Given the description of an element on the screen output the (x, y) to click on. 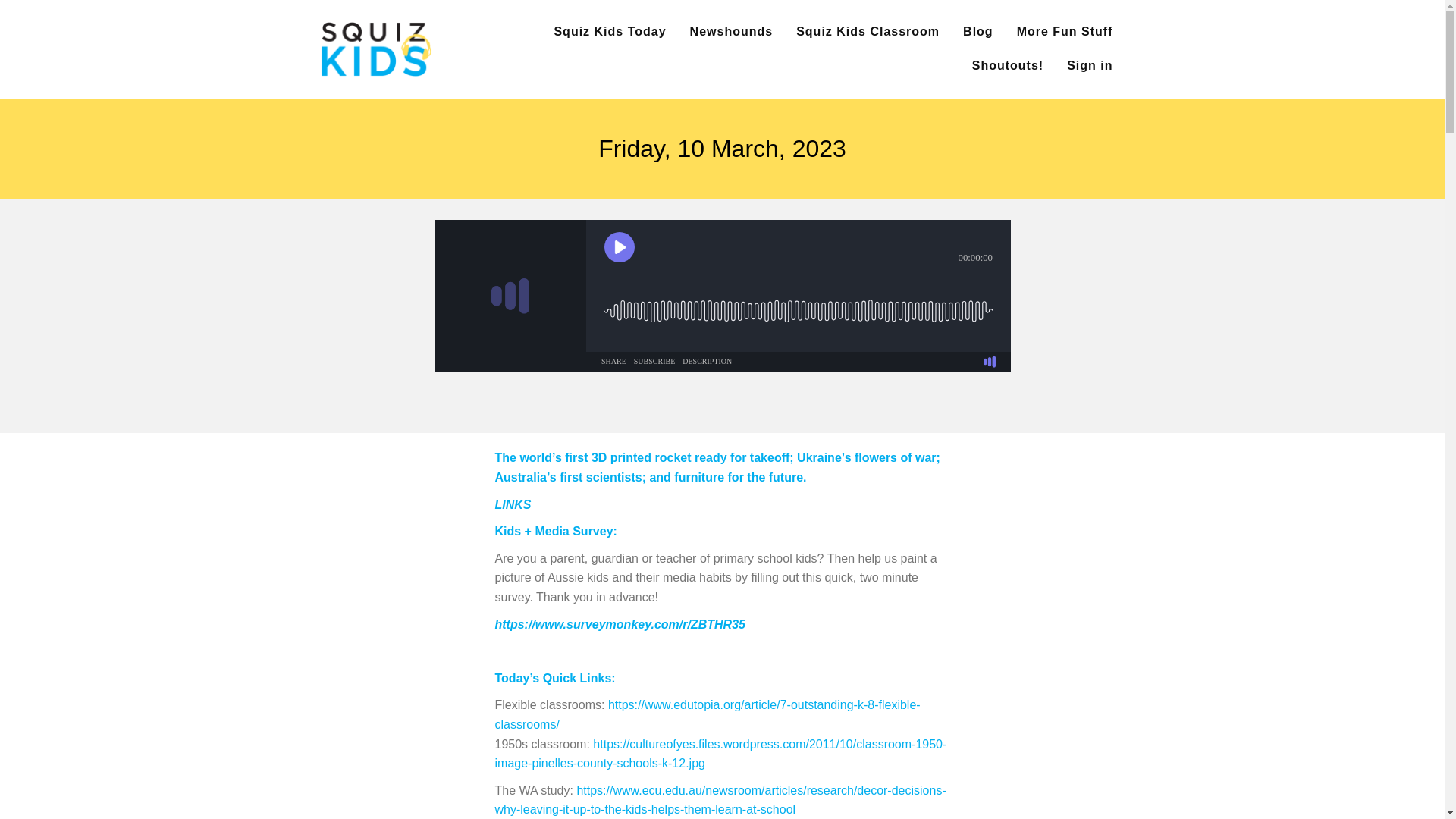
Shoutouts! (1007, 66)
More Fun Stuff (1064, 32)
Squiz Kids Today (609, 32)
Sign in (1089, 66)
Squiz Kids Classroom (867, 32)
squiz-kids-logo (375, 49)
Embed Player (721, 295)
Newshounds (731, 32)
